Given the description of an element on the screen output the (x, y) to click on. 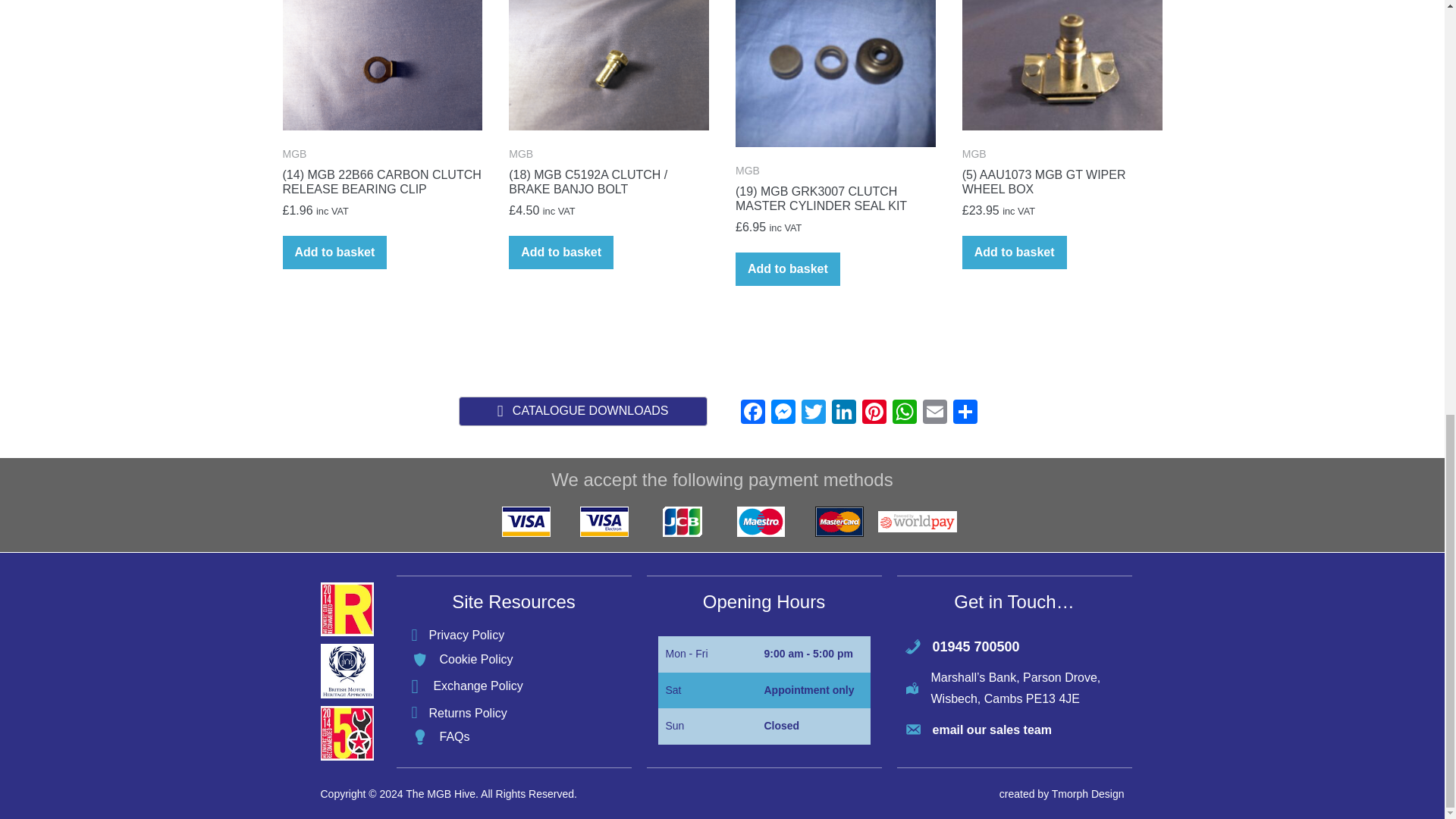
Twitter (812, 413)
WhatsApp (903, 413)
Pinterest (873, 413)
Facebook (751, 413)
LinkedIn (843, 413)
Messenger (782, 413)
